Given the description of an element on the screen output the (x, y) to click on. 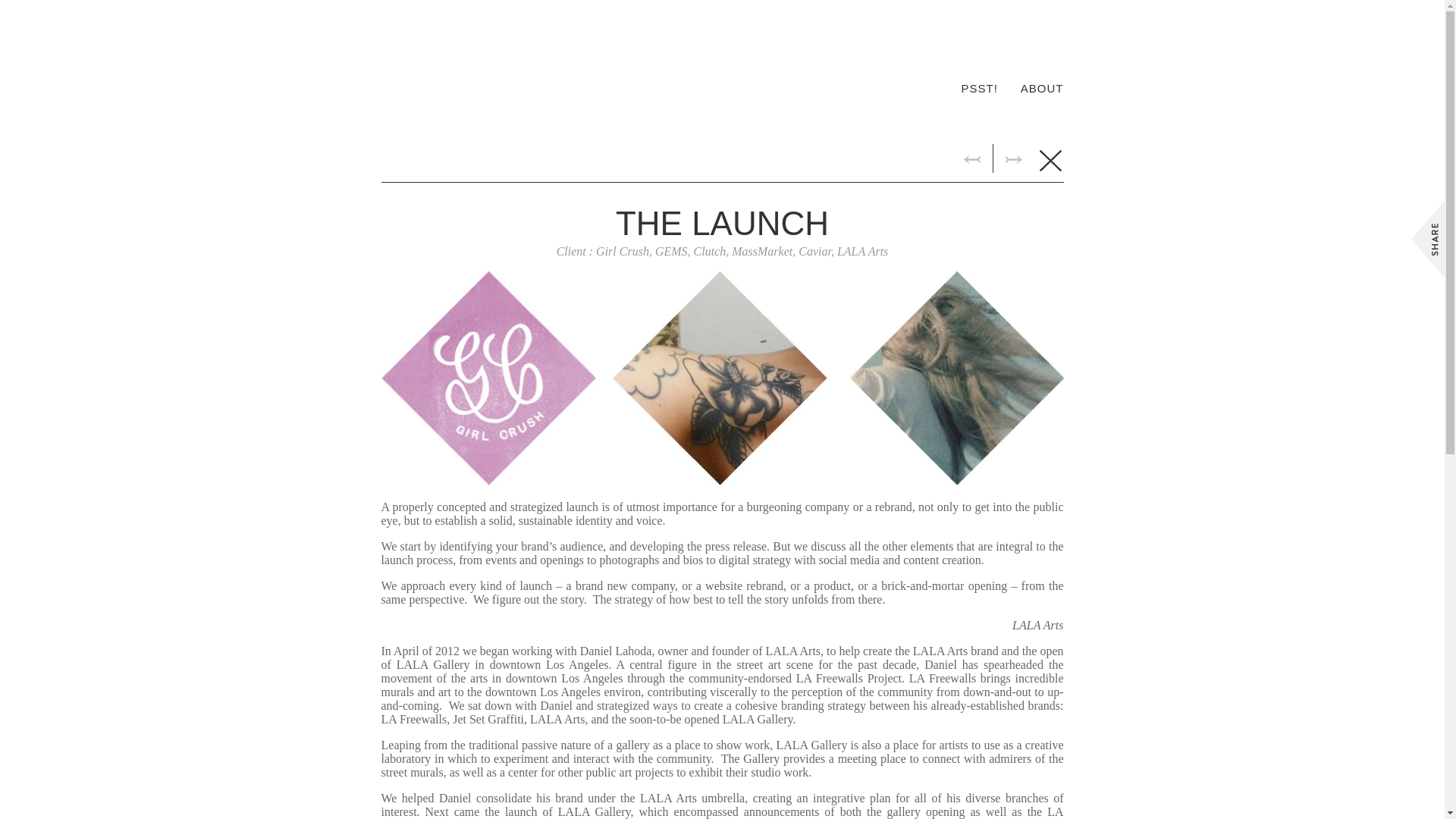
PSST! (978, 86)
ABOUT (1042, 86)
